Given the description of an element on the screen output the (x, y) to click on. 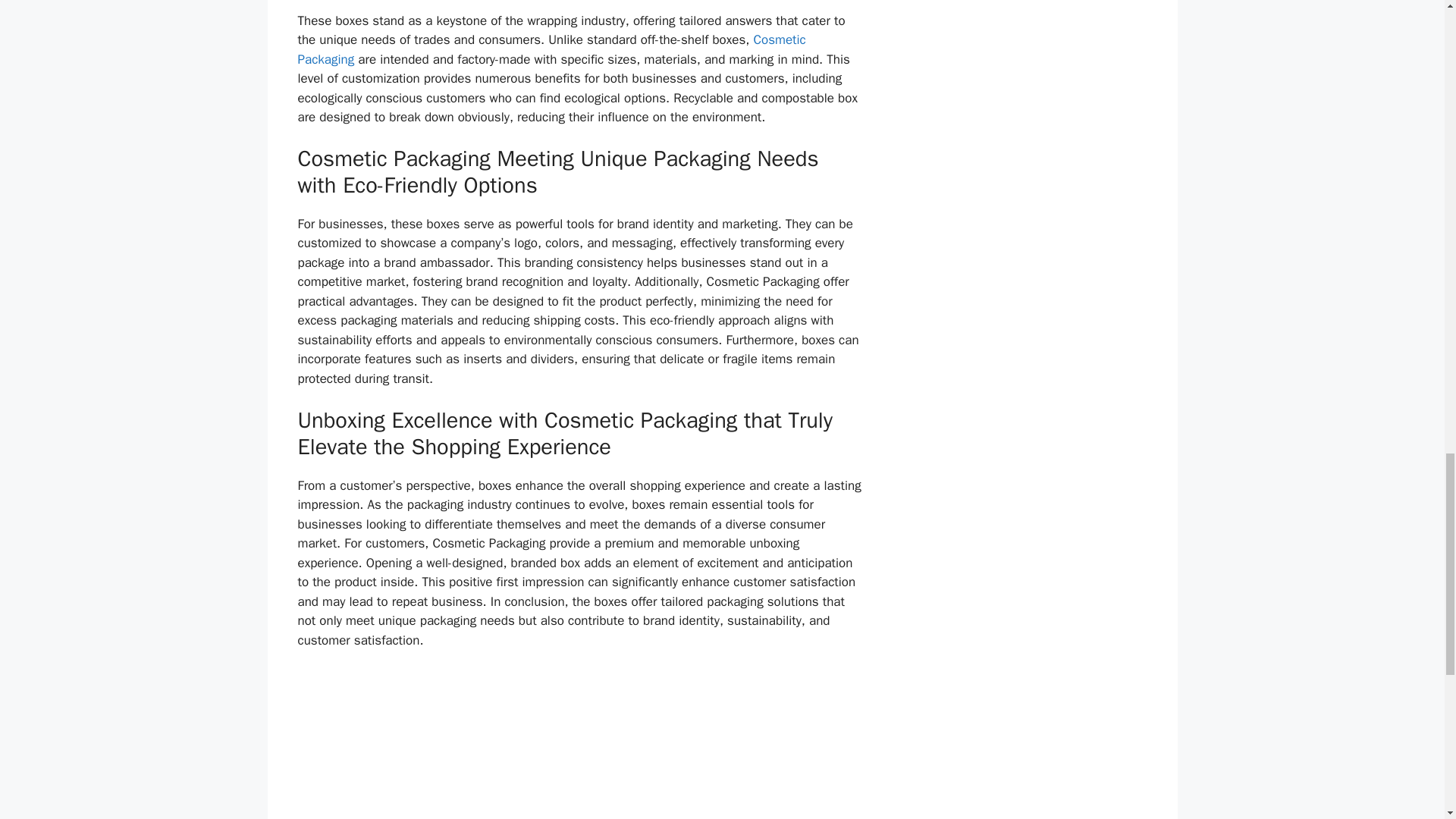
Advertisement (579, 738)
Cosmetic Packaging (551, 49)
